Given the description of an element on the screen output the (x, y) to click on. 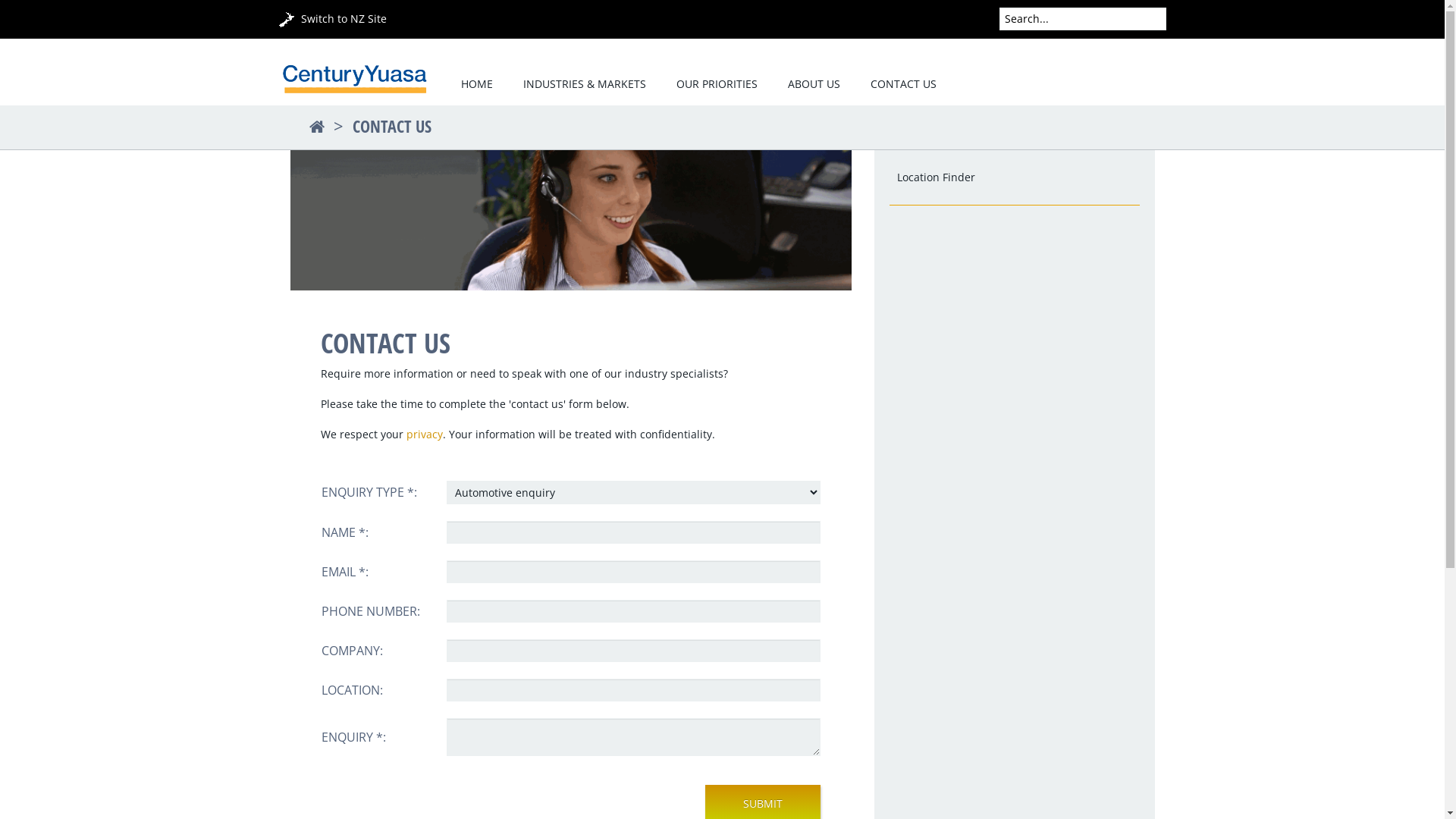
CONTACT US Element type: text (390, 126)
INDUSTRIES & MARKETS Element type: text (584, 85)
 >  Element type: text (330, 126)
CONTACT US Element type: text (903, 85)
Switch to NZ Site Element type: text (332, 18)
OUR PRIORITIES Element type: text (716, 85)
Location Finder Element type: text (935, 176)
HOME Element type: text (476, 85)
ABOUT US Element type: text (813, 85)
privacy Element type: text (424, 433)
